Given the description of an element on the screen output the (x, y) to click on. 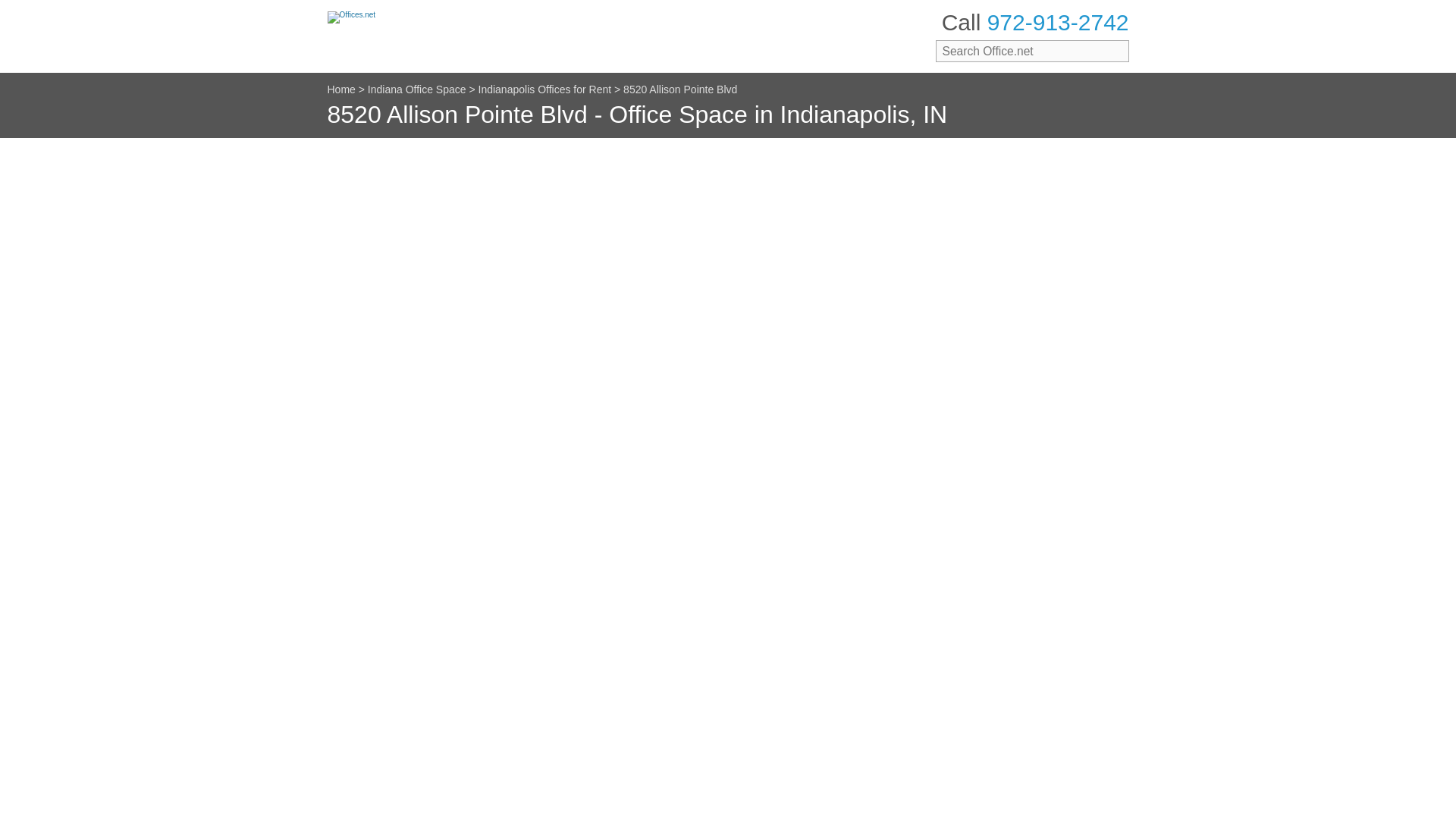
Home (341, 89)
Indiana Office Space (416, 89)
Indianapolis Offices for Rent (545, 89)
